Given the description of an element on the screen output the (x, y) to click on. 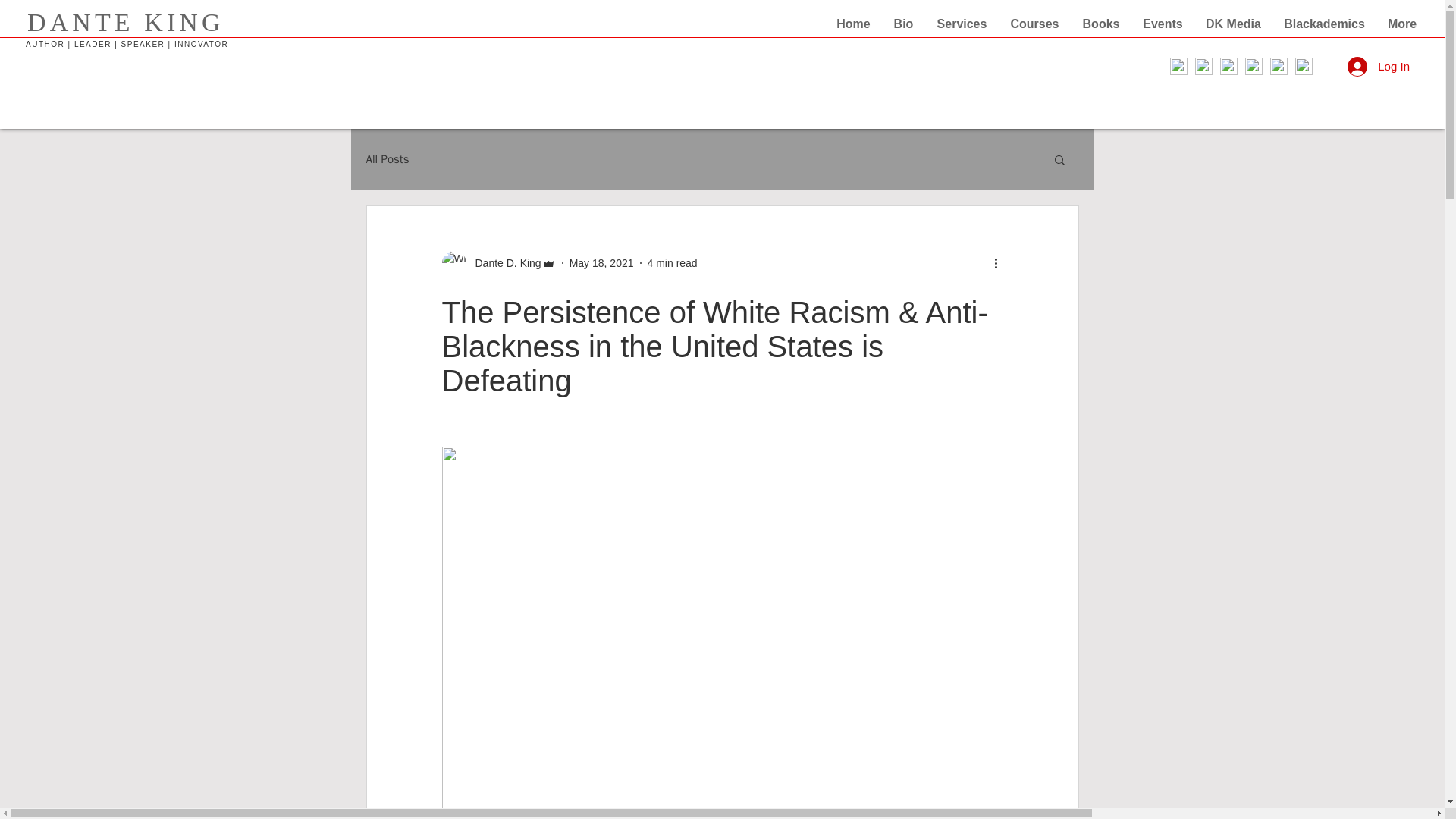
May 18, 2021 (601, 262)
DK Media (1232, 23)
Blackademics (1323, 23)
Books (1100, 23)
Events (1162, 23)
Log In (1378, 65)
Home (853, 23)
Courses (1034, 23)
4 min read (672, 262)
Services (961, 23)
